Given the description of an element on the screen output the (x, y) to click on. 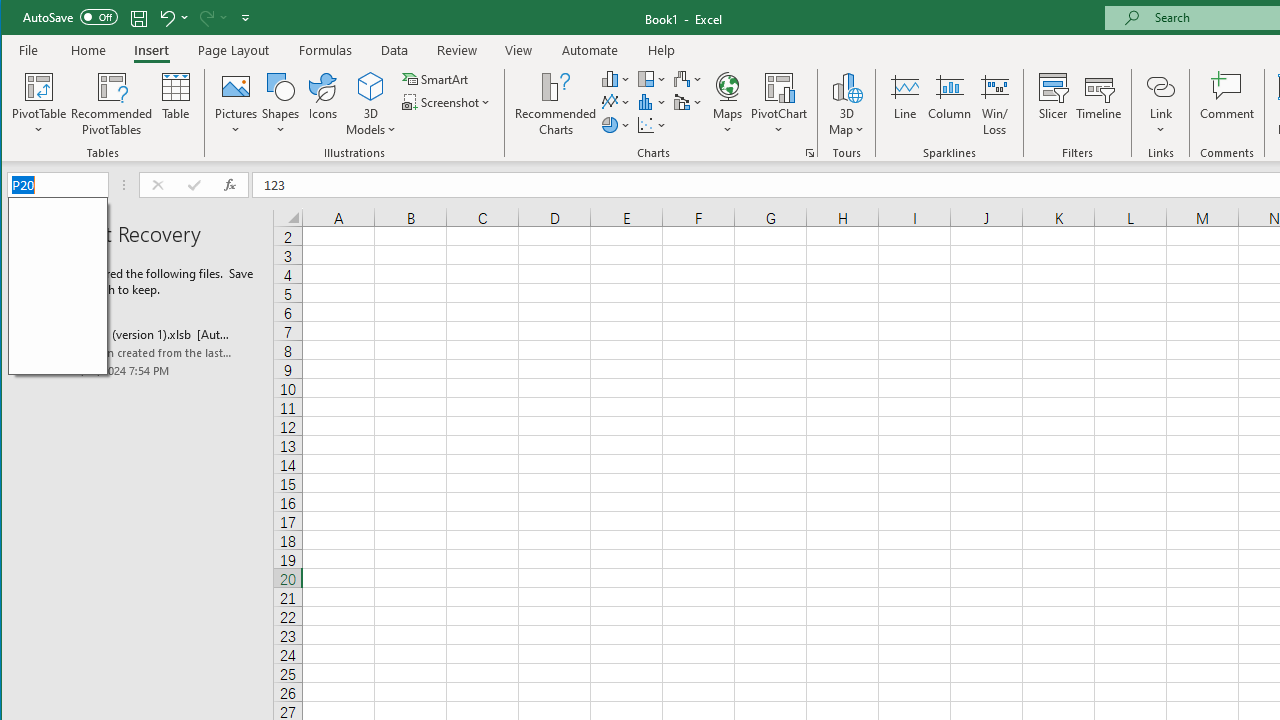
PivotTable (39, 104)
Link (1160, 86)
Shapes (280, 104)
PivotTable (39, 86)
Pictures (235, 104)
Insert Statistic Chart (652, 101)
Screenshot (447, 101)
Insert Pie or Doughnut Chart (616, 124)
